Given the description of an element on the screen output the (x, y) to click on. 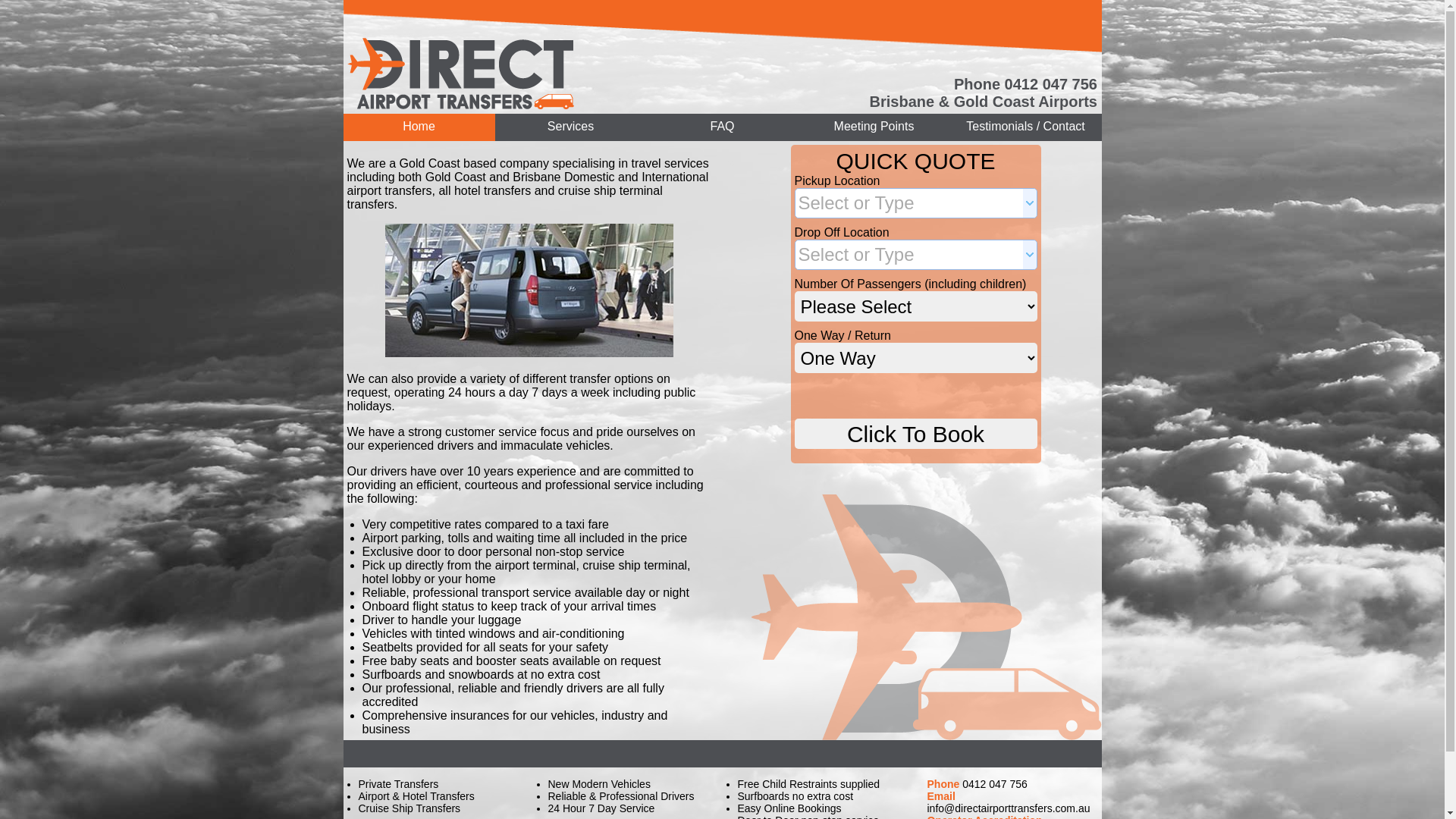
Meeting Points Element type: text (873, 130)
Click To Book Element type: text (915, 433)
Services Element type: text (570, 130)
Testimonials / Contact Element type: text (1025, 130)
Home Element type: text (418, 130)
FAQ Element type: text (721, 130)
